Given the description of an element on the screen output the (x, y) to click on. 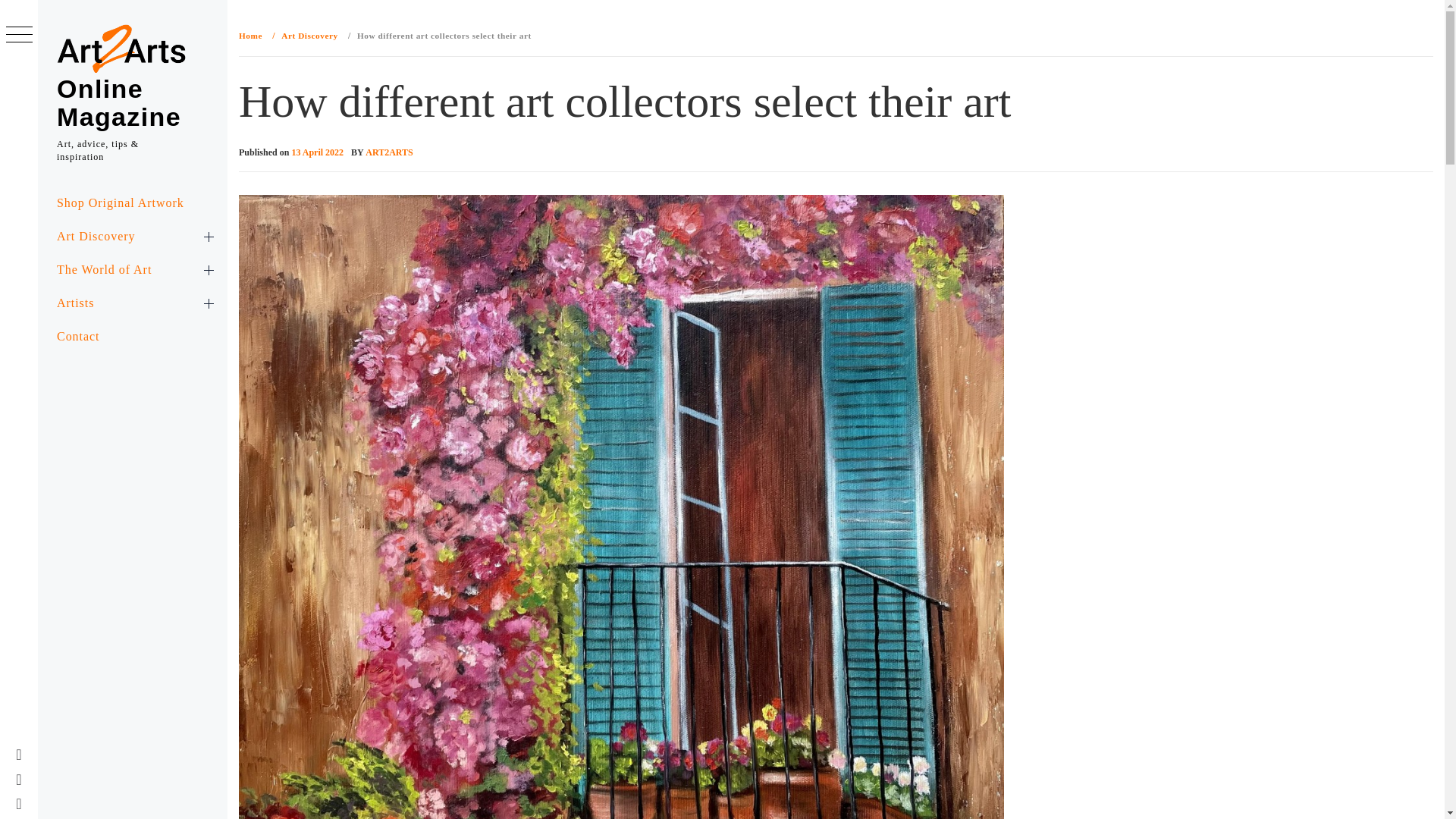
Home (252, 35)
The World of Art (132, 269)
Art Discovery (132, 236)
Art Discovery (307, 35)
ART2ARTS (389, 152)
Contact (132, 336)
Shop Original Artwork (132, 203)
Search (646, 37)
13 April 2022 (317, 152)
Online Magazine (118, 102)
Artists (132, 303)
